Given the description of an element on the screen output the (x, y) to click on. 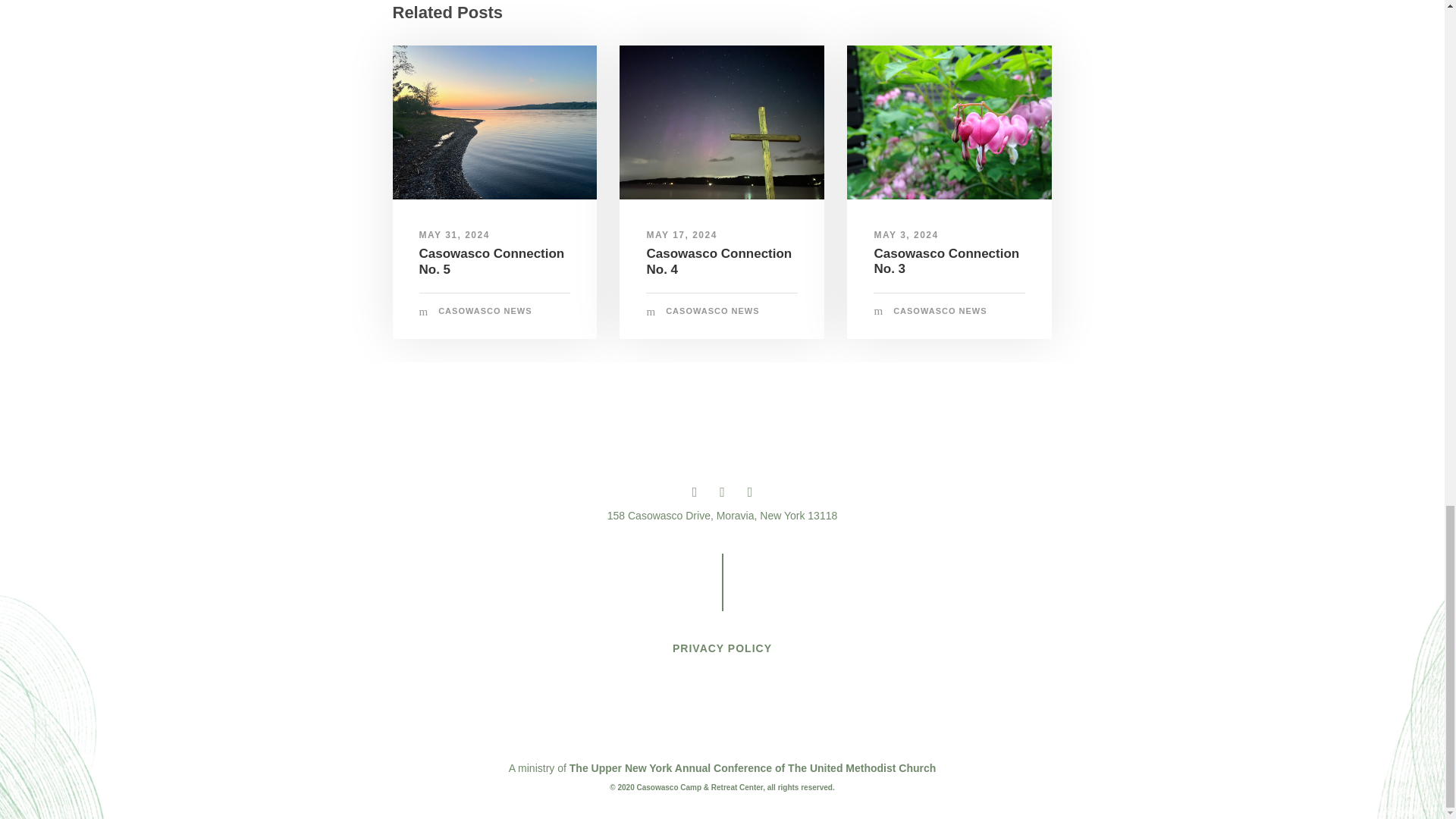
Northern Lights (722, 122)
i-TXRk2vS-XL (949, 122)
